Given the description of an element on the screen output the (x, y) to click on. 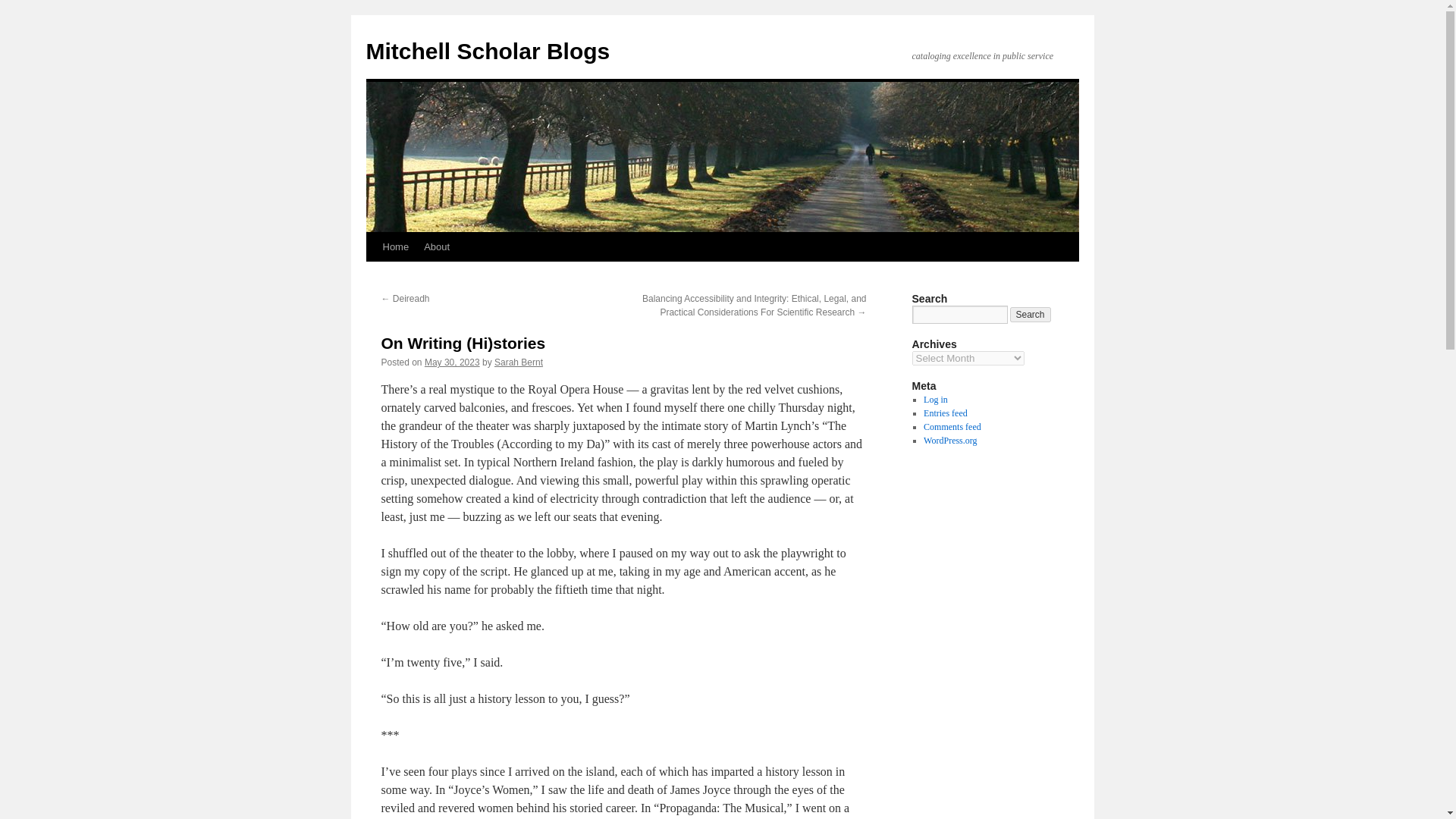
Home (395, 246)
Sarah Bernt (519, 362)
View all posts by Sarah Bernt (519, 362)
Log in (935, 398)
Mitchell Scholar Blogs (487, 50)
Comments feed (952, 426)
About (436, 246)
Entries feed (945, 412)
Search (1030, 314)
Mitchell Scholar Blogs (487, 50)
